Given the description of an element on the screen output the (x, y) to click on. 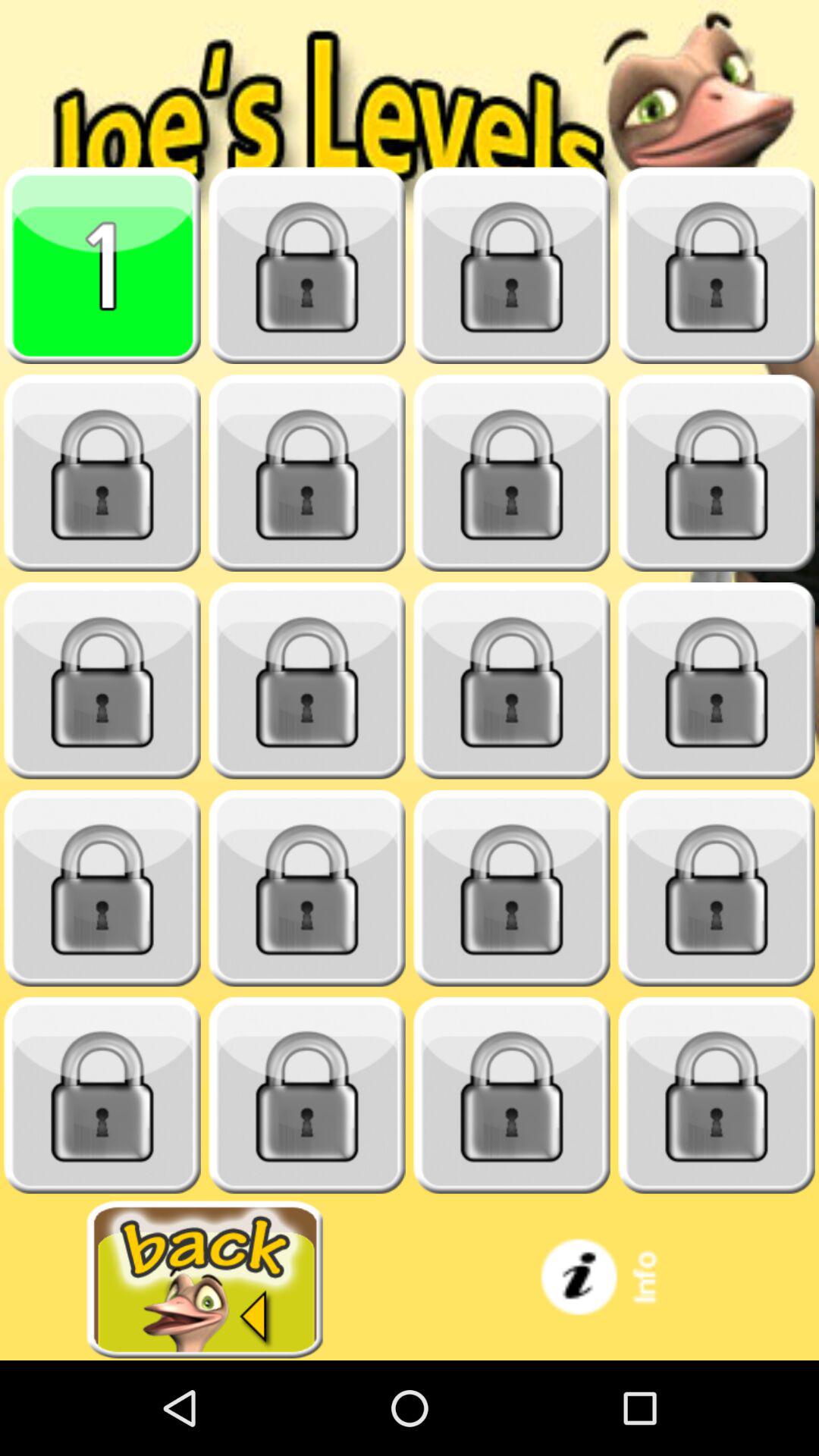
select level (102, 680)
